Given the description of an element on the screen output the (x, y) to click on. 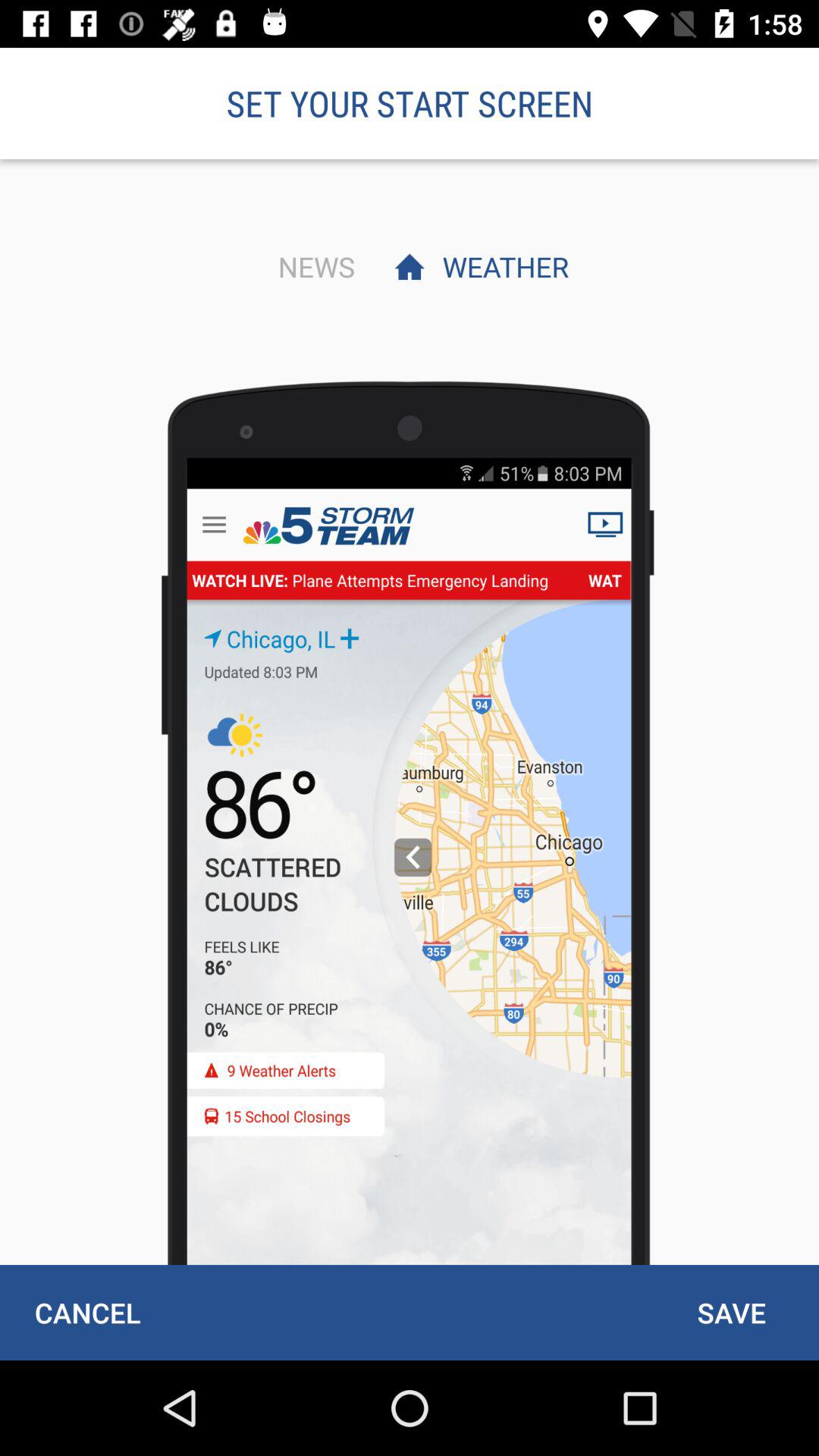
click the icon to the left of weather item (312, 266)
